Given the description of an element on the screen output the (x, y) to click on. 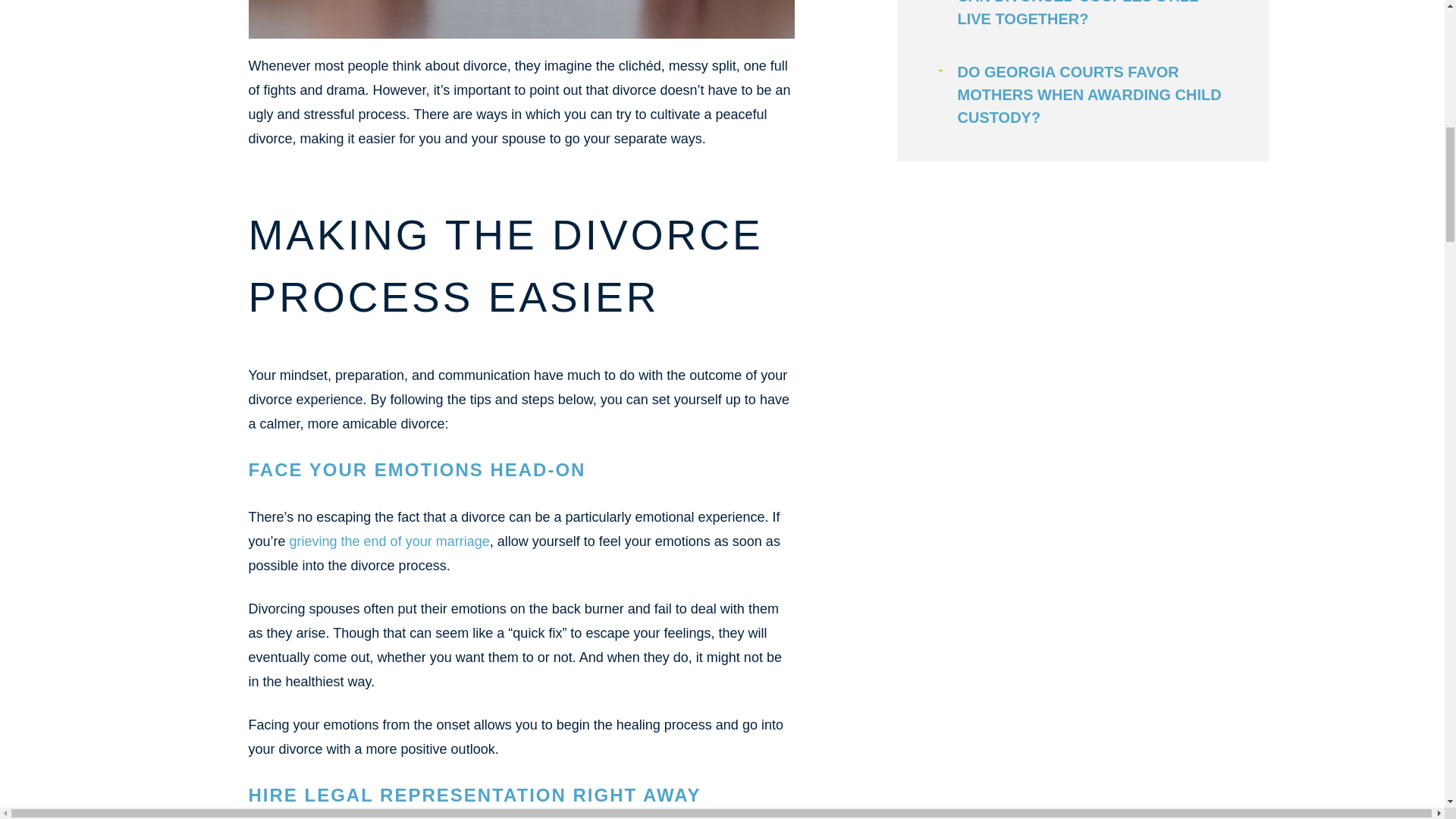
grieving the end of your marriage (389, 540)
